Given the description of an element on the screen output the (x, y) to click on. 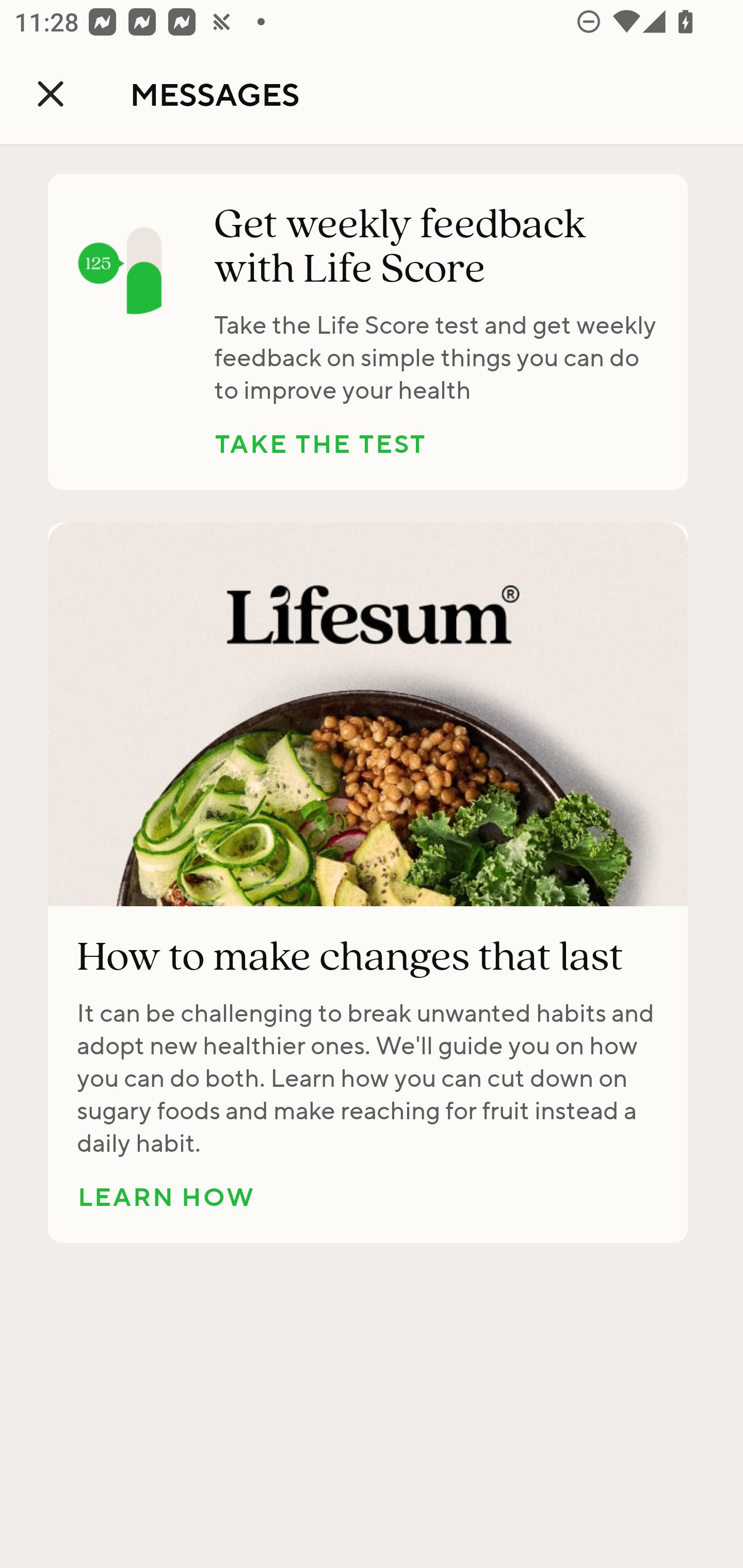
Navigate up (50, 93)
